Given the description of an element on the screen output the (x, y) to click on. 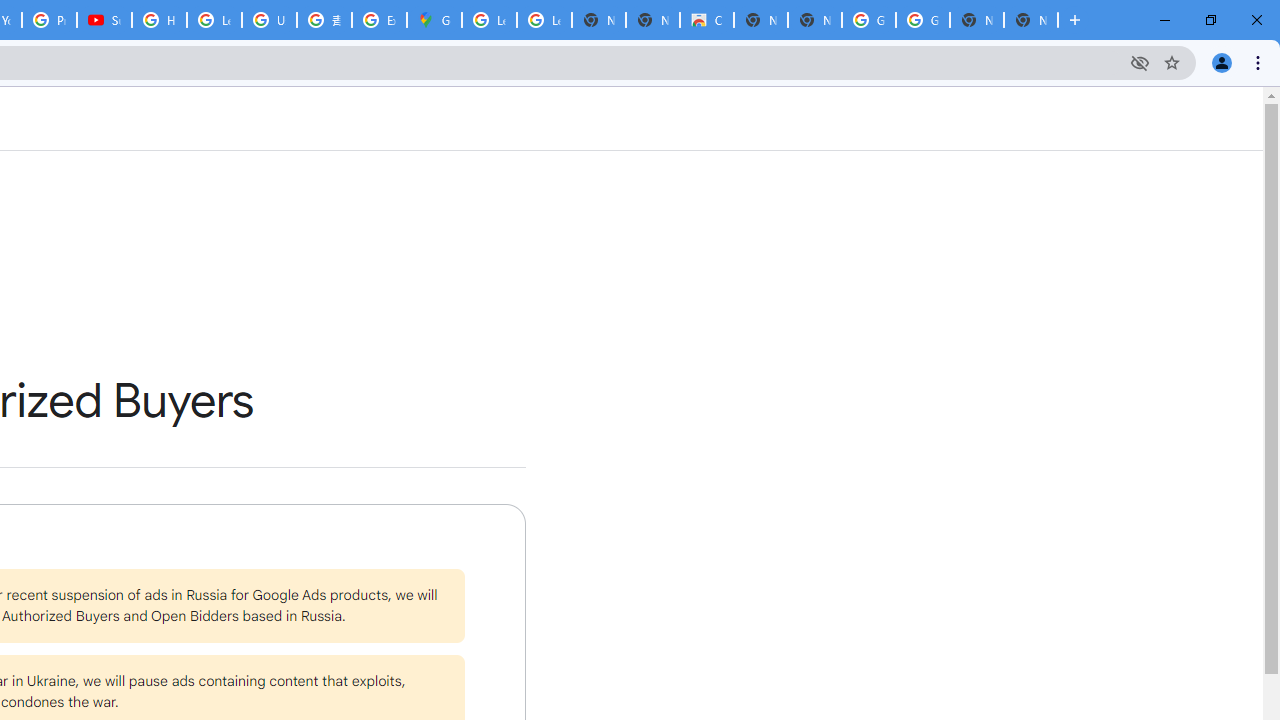
Google Images (922, 20)
Google Images (868, 20)
New Tab (1030, 20)
Subscriptions - YouTube (103, 20)
How Chrome protects your passwords - Google Chrome Help (158, 20)
